Given the description of an element on the screen output the (x, y) to click on. 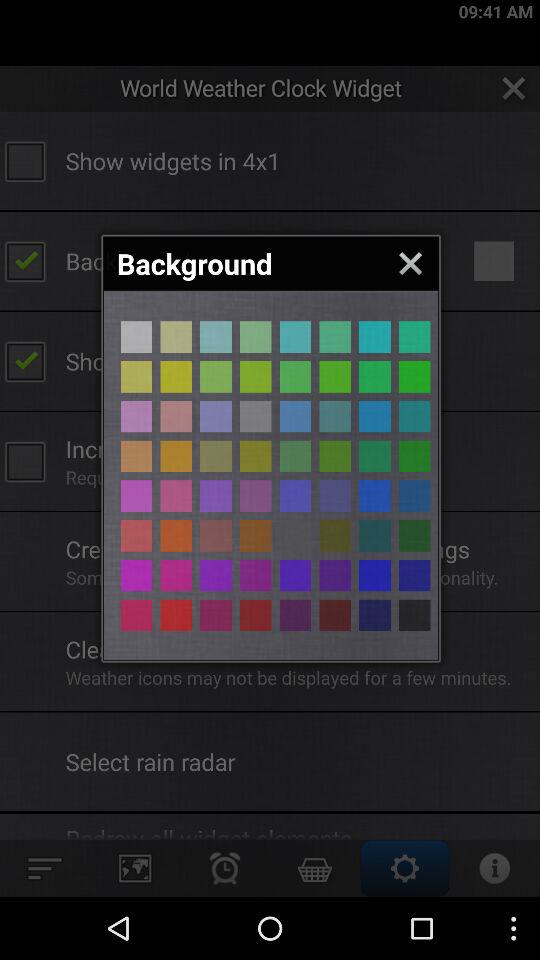
choose a color (255, 495)
